Given the description of an element on the screen output the (x, y) to click on. 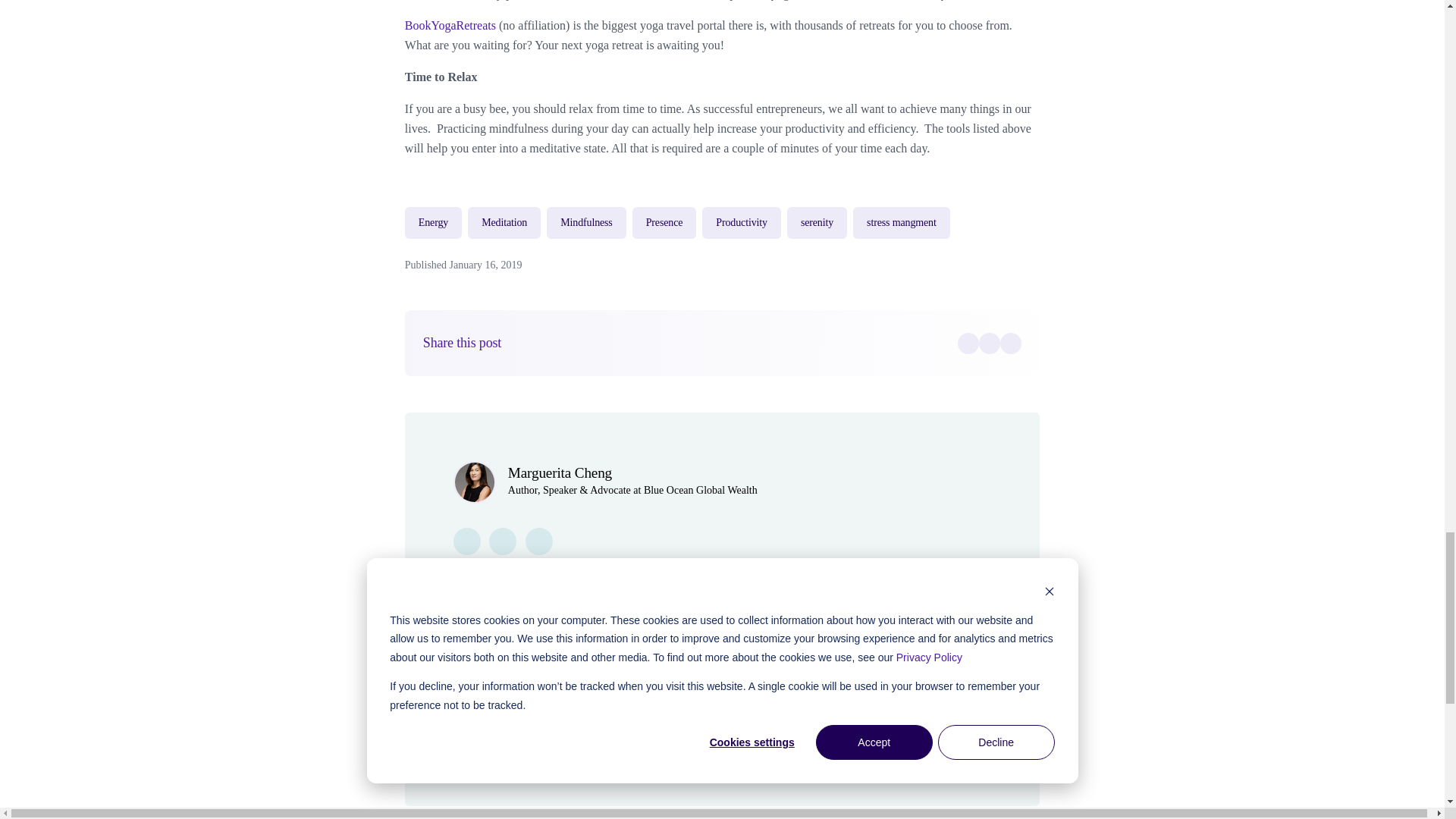
Twitter (989, 342)
LinkedIn (1011, 342)
Facebook (968, 342)
Marguerita Cheng (559, 472)
